Given the description of an element on the screen output the (x, y) to click on. 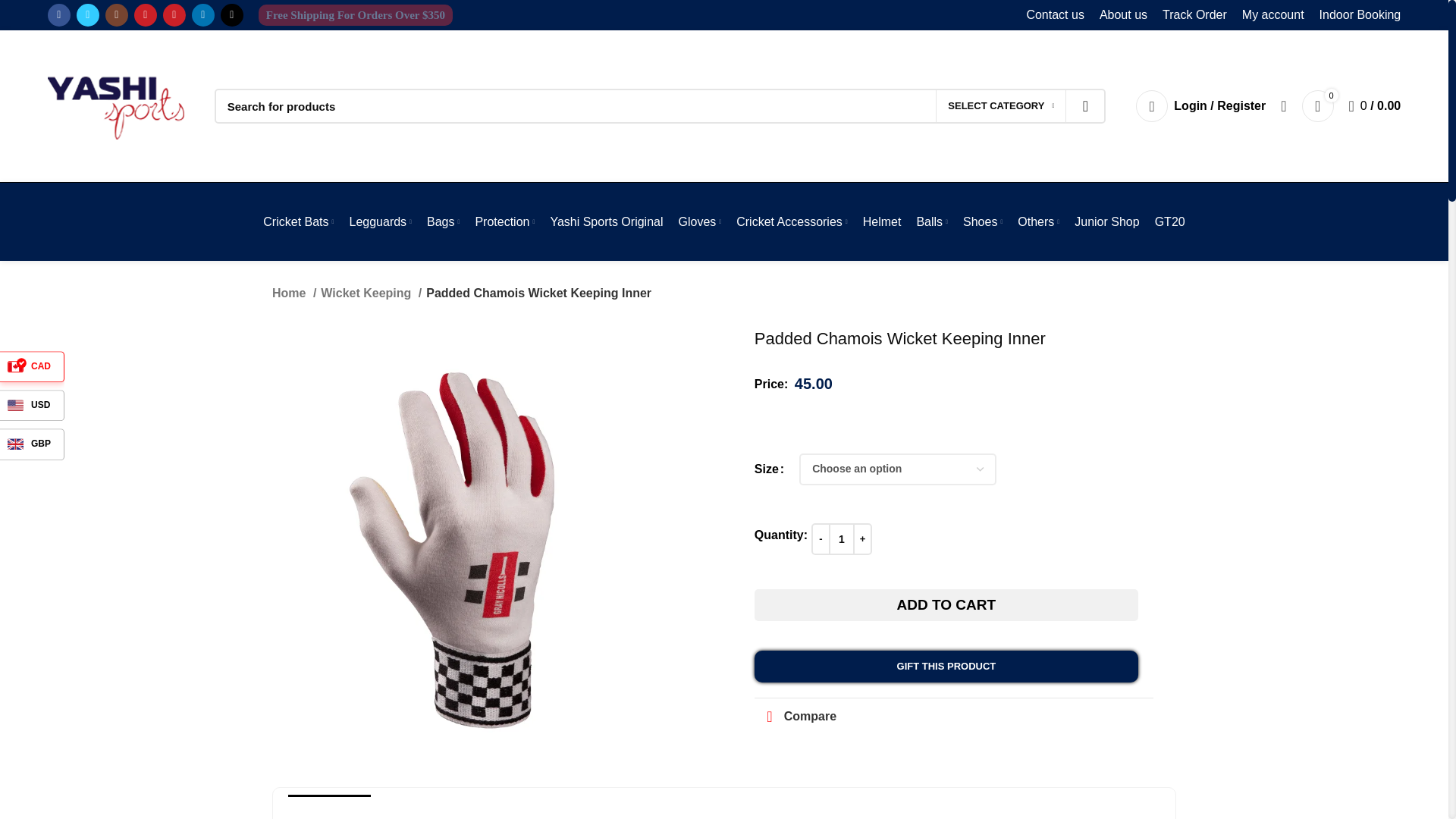
Contact us (1053, 15)
Indoor Booking (1360, 15)
About us (1123, 15)
My account (1272, 15)
My account (1200, 105)
Search for products (660, 105)
Shopping cart (1374, 105)
SELECT CATEGORY (1000, 106)
SELECT CATEGORY (1000, 106)
